Given the description of an element on the screen output the (x, y) to click on. 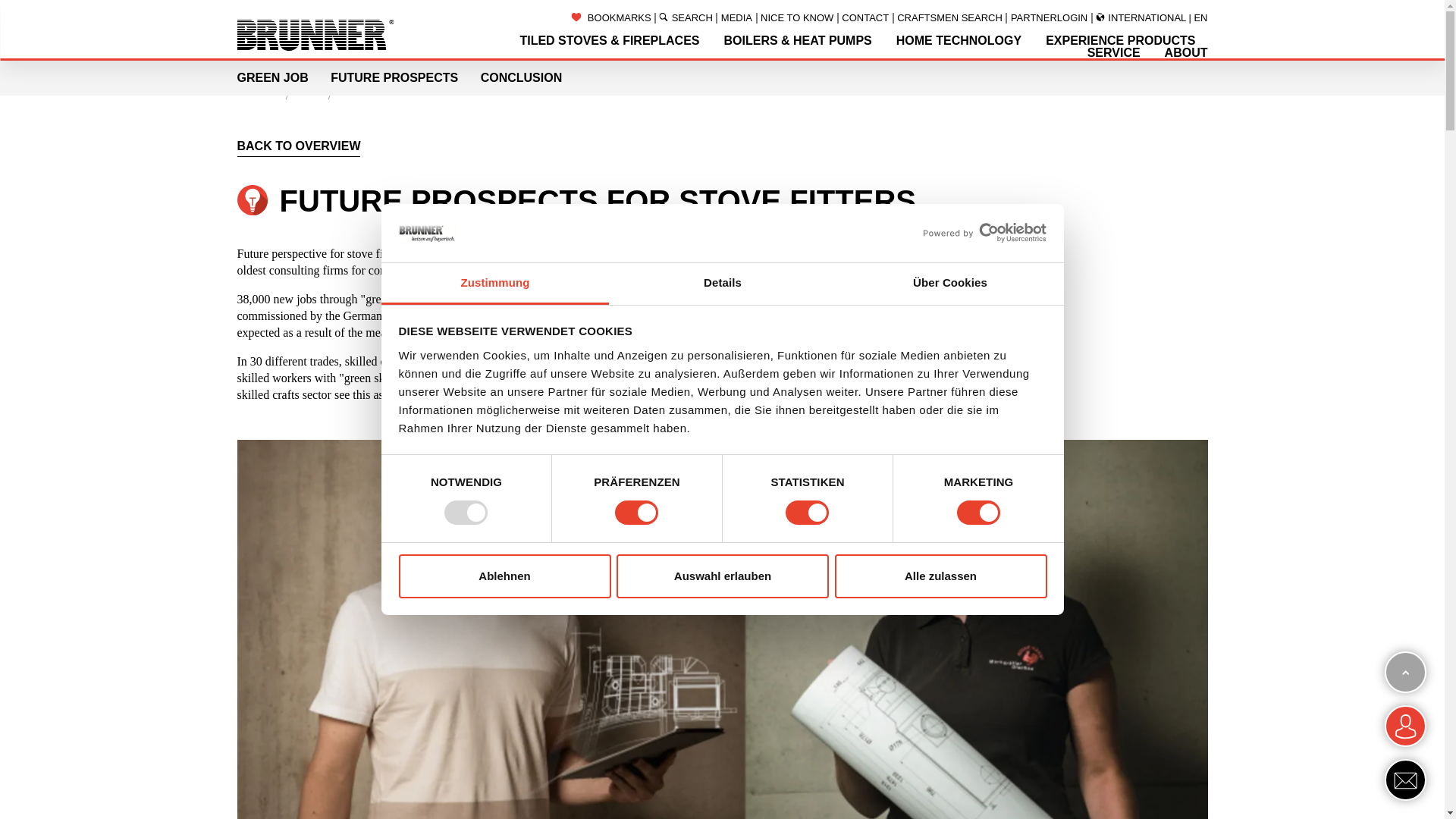
Details (721, 283)
Zustimmung (494, 283)
